Given the description of an element on the screen output the (x, y) to click on. 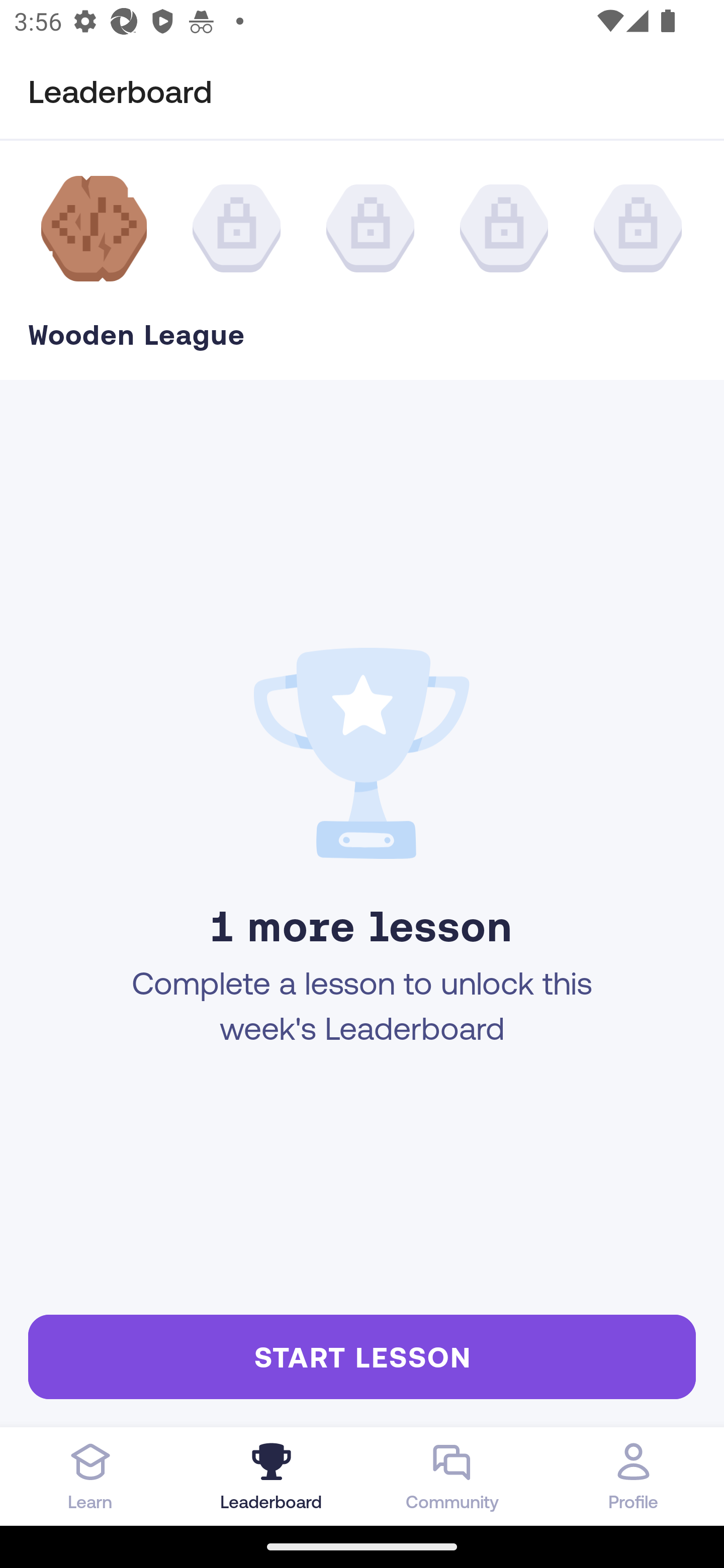
START LESSON (361, 1355)
Learn (90, 1475)
Community (452, 1475)
Profile (633, 1475)
